Given the description of an element on the screen output the (x, y) to click on. 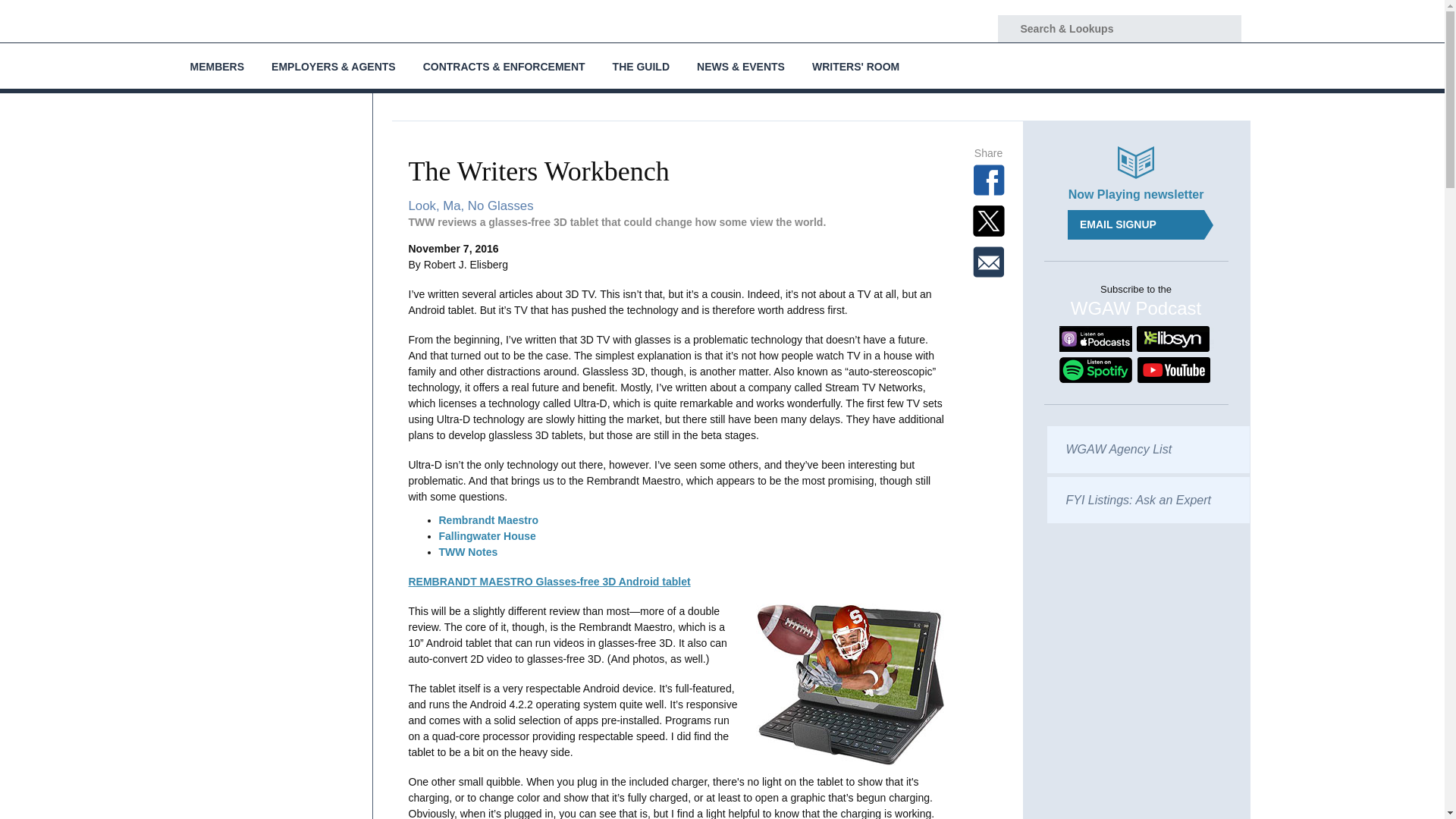
MEMBERS (216, 65)
THE GUILD (640, 65)
WRITERS' ROOM (854, 65)
